Given the description of an element on the screen output the (x, y) to click on. 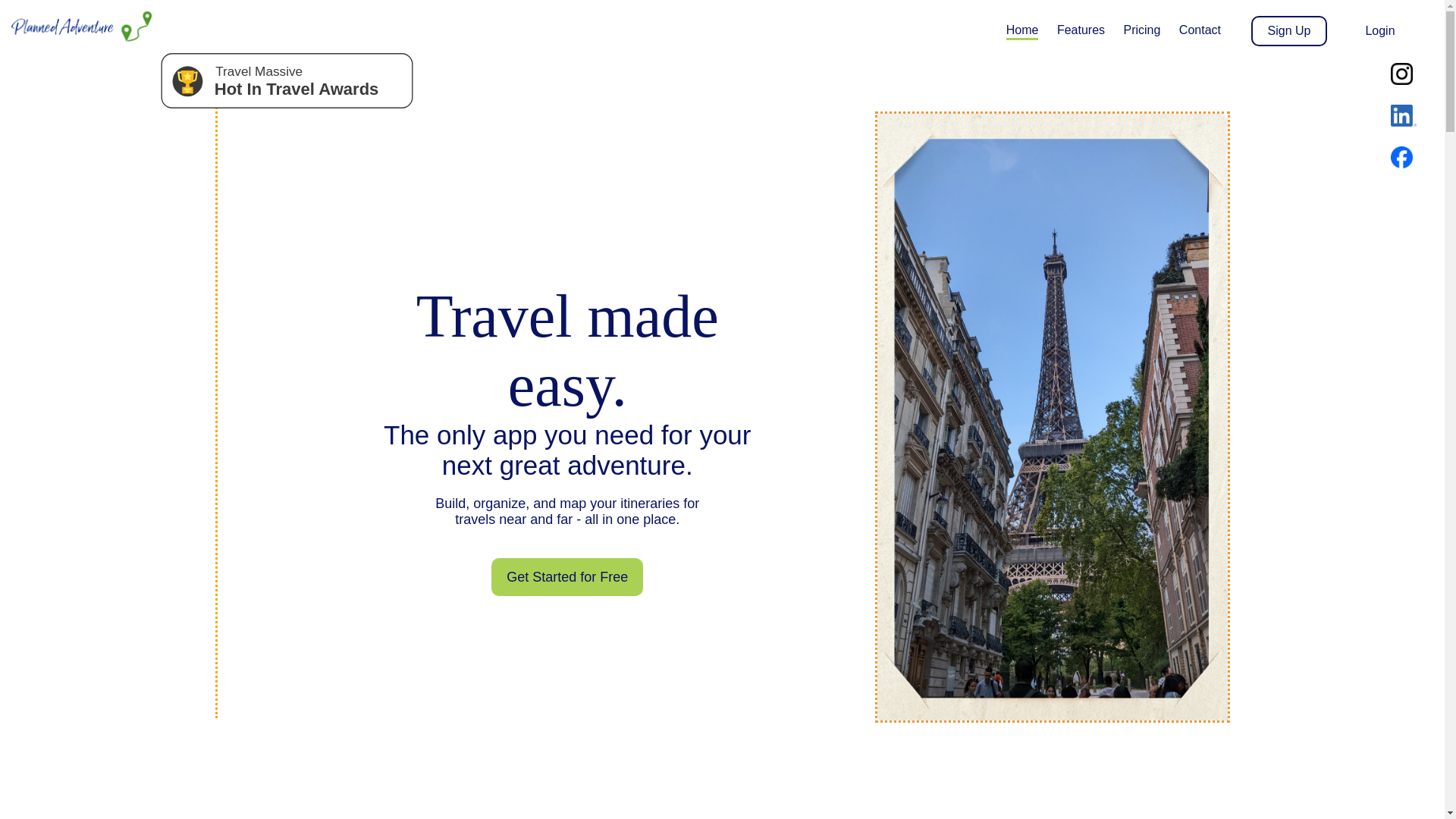
Login (1380, 30)
Get Started for Free (567, 576)
Contact (1200, 29)
Pricing (1142, 29)
Features (1081, 29)
Home (1022, 29)
Sign Up (1288, 30)
